Given the description of an element on the screen output the (x, y) to click on. 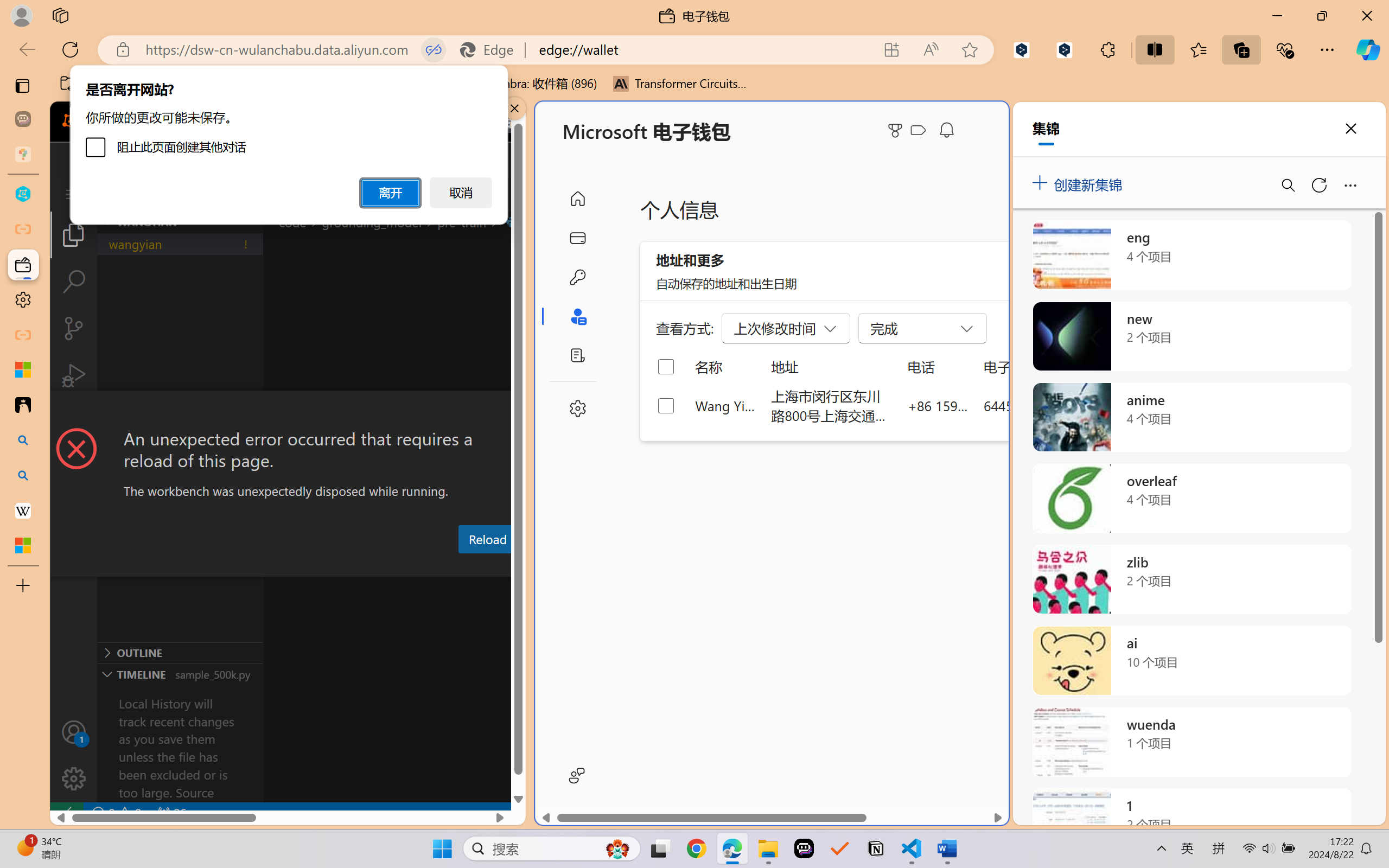
Class: ___1lmltc5 f1agt3bx f12qytpq (917, 130)
Manage (73, 778)
Wang Yian (725, 405)
Google Chrome (696, 848)
